Given the description of an element on the screen output the (x, y) to click on. 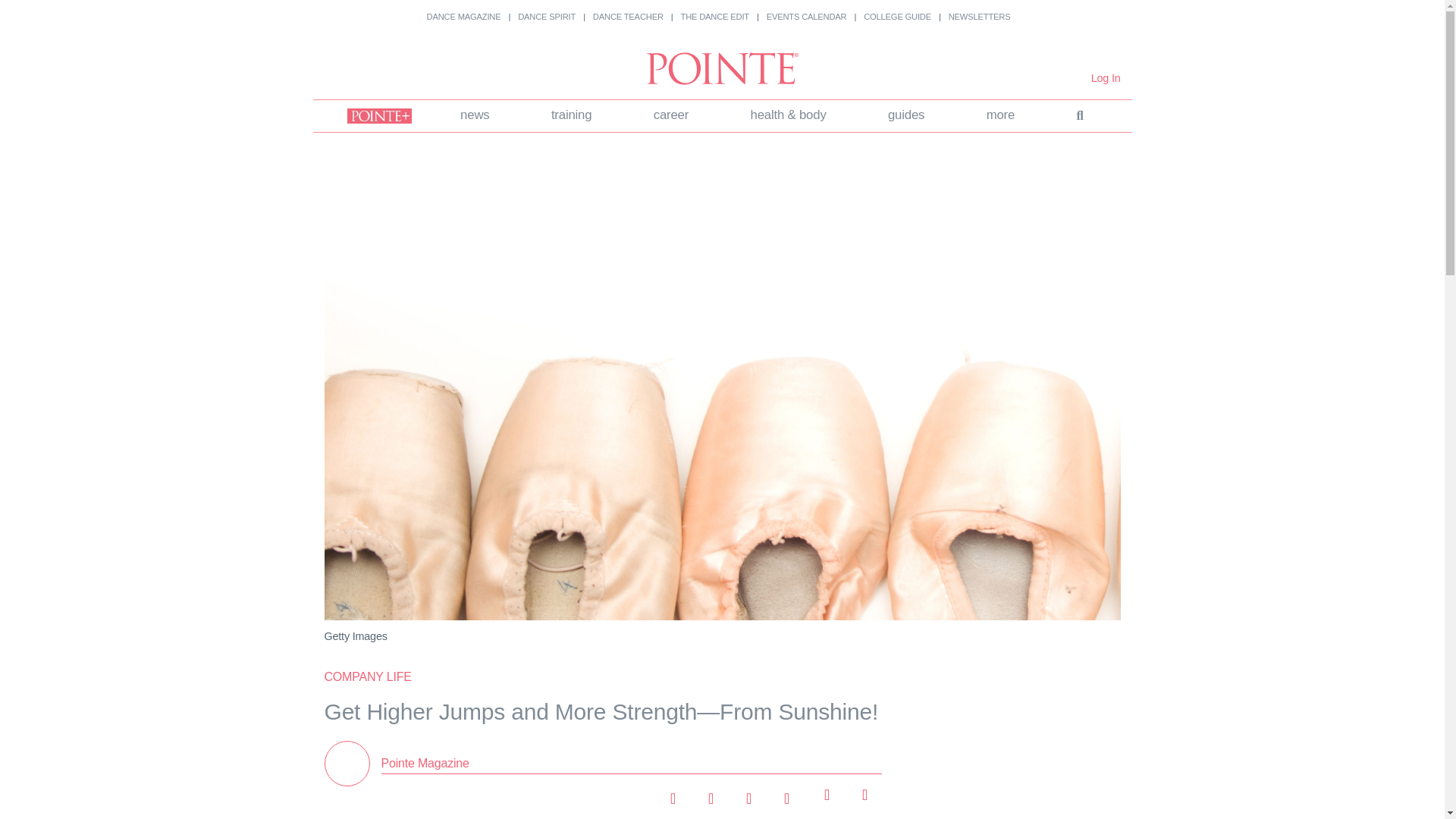
training (571, 115)
more (1000, 115)
Follow on LinkedIn (748, 793)
DANCE TEACHER (627, 16)
EVENTS CALENDAR (807, 16)
NEWSLETTERS (979, 16)
Follow on Twitter (710, 793)
news (474, 115)
Members Login (1105, 78)
DANCE MAGAZINE (463, 16)
